Given the description of an element on the screen output the (x, y) to click on. 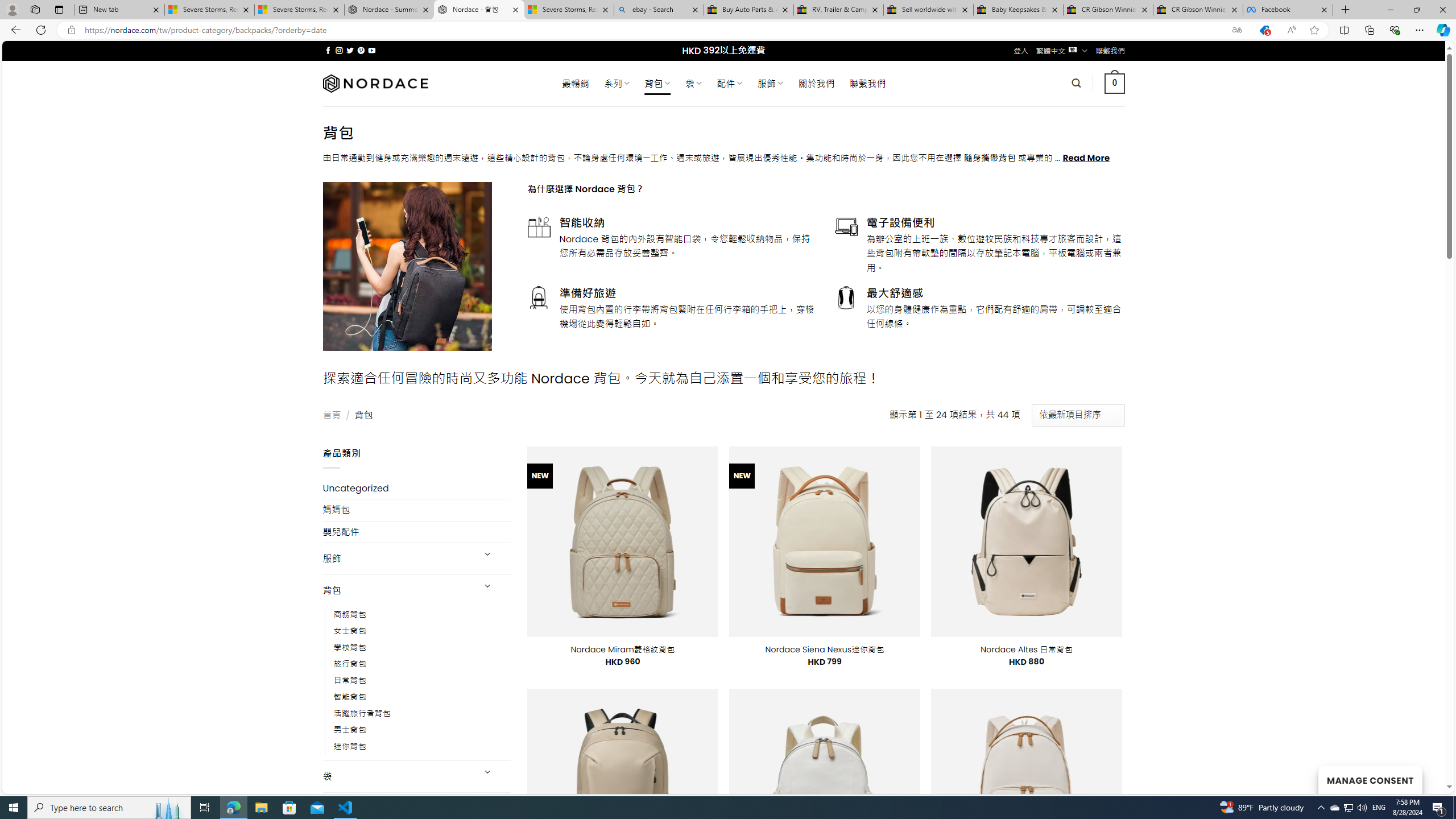
Uncategorized (416, 488)
Address and search bar (653, 29)
Add this page to favorites (Ctrl+D) (1314, 29)
Facebook (1287, 9)
View site information (70, 29)
MANAGE CONSENT (1369, 779)
Baby Keepsakes & Announcements for sale | eBay (1018, 9)
